Given the description of an element on the screen output the (x, y) to click on. 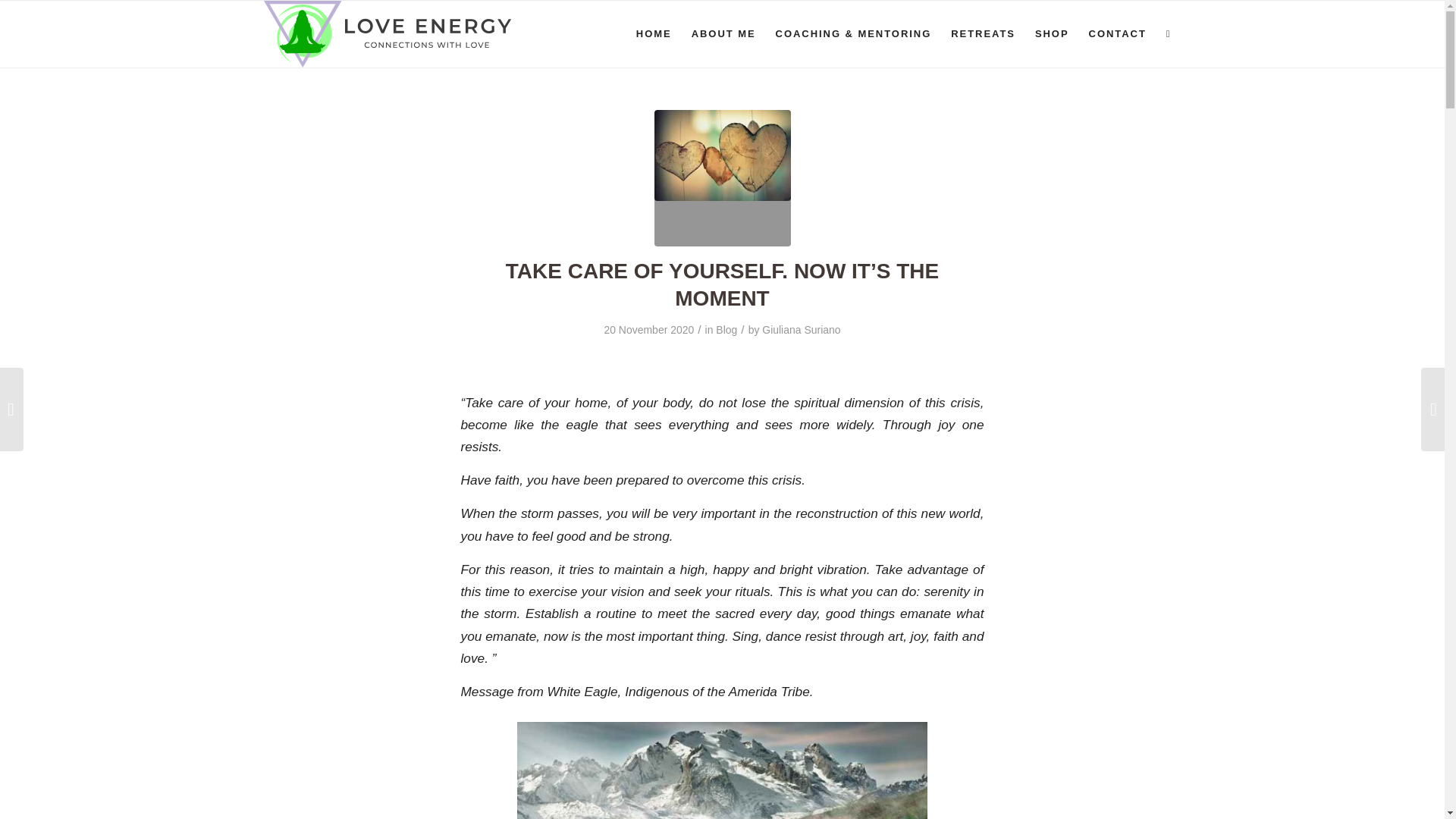
ABOUT ME (723, 33)
RETREATS (982, 33)
CONTACT (1117, 33)
Posts by Giuliana Suriano (800, 329)
Blog (726, 329)
Giuliana Suriano (800, 329)
